Given the description of an element on the screen output the (x, y) to click on. 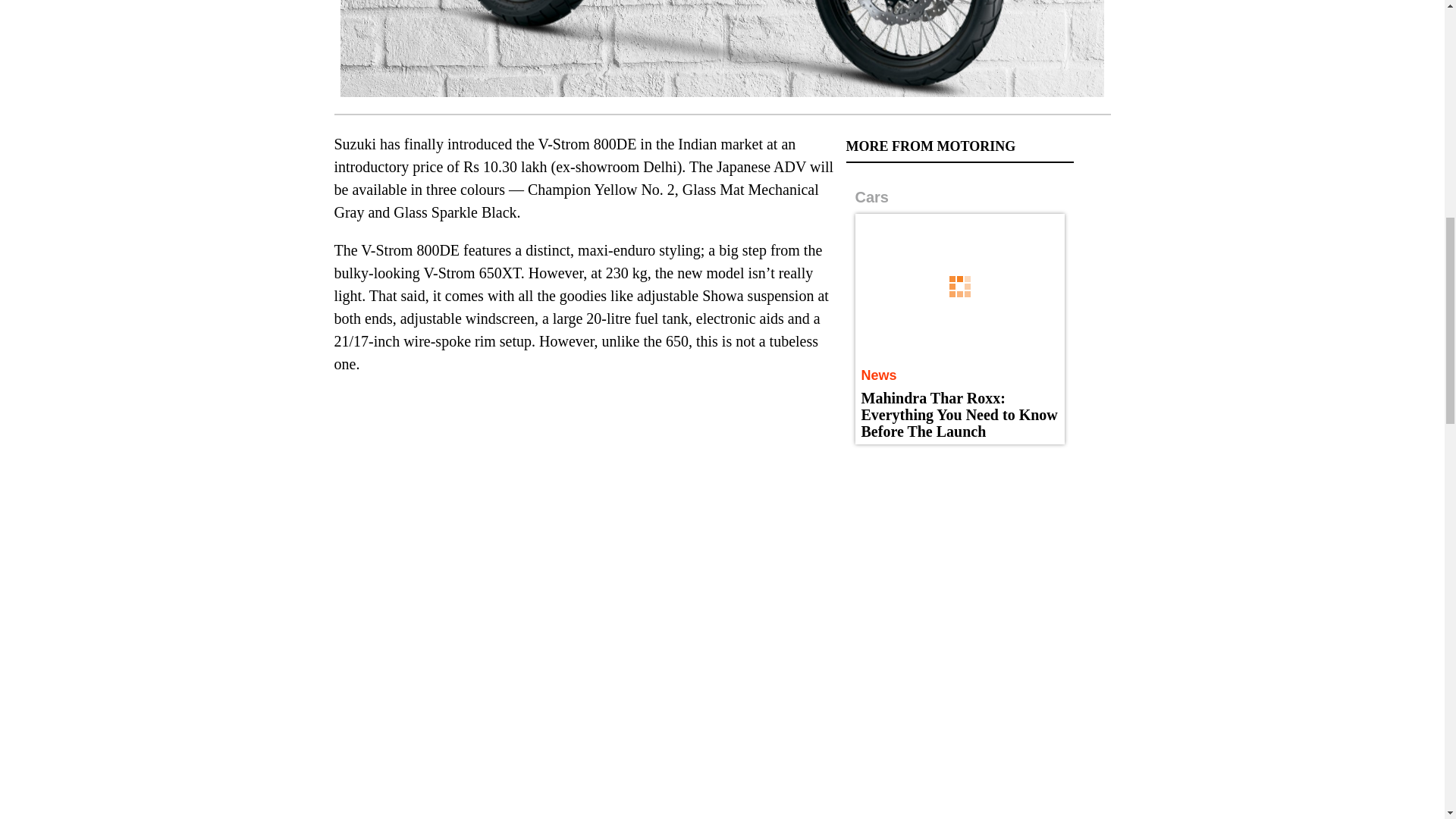
3rd party ad content (959, 555)
Cars (872, 197)
News (878, 375)
